Given the description of an element on the screen output the (x, y) to click on. 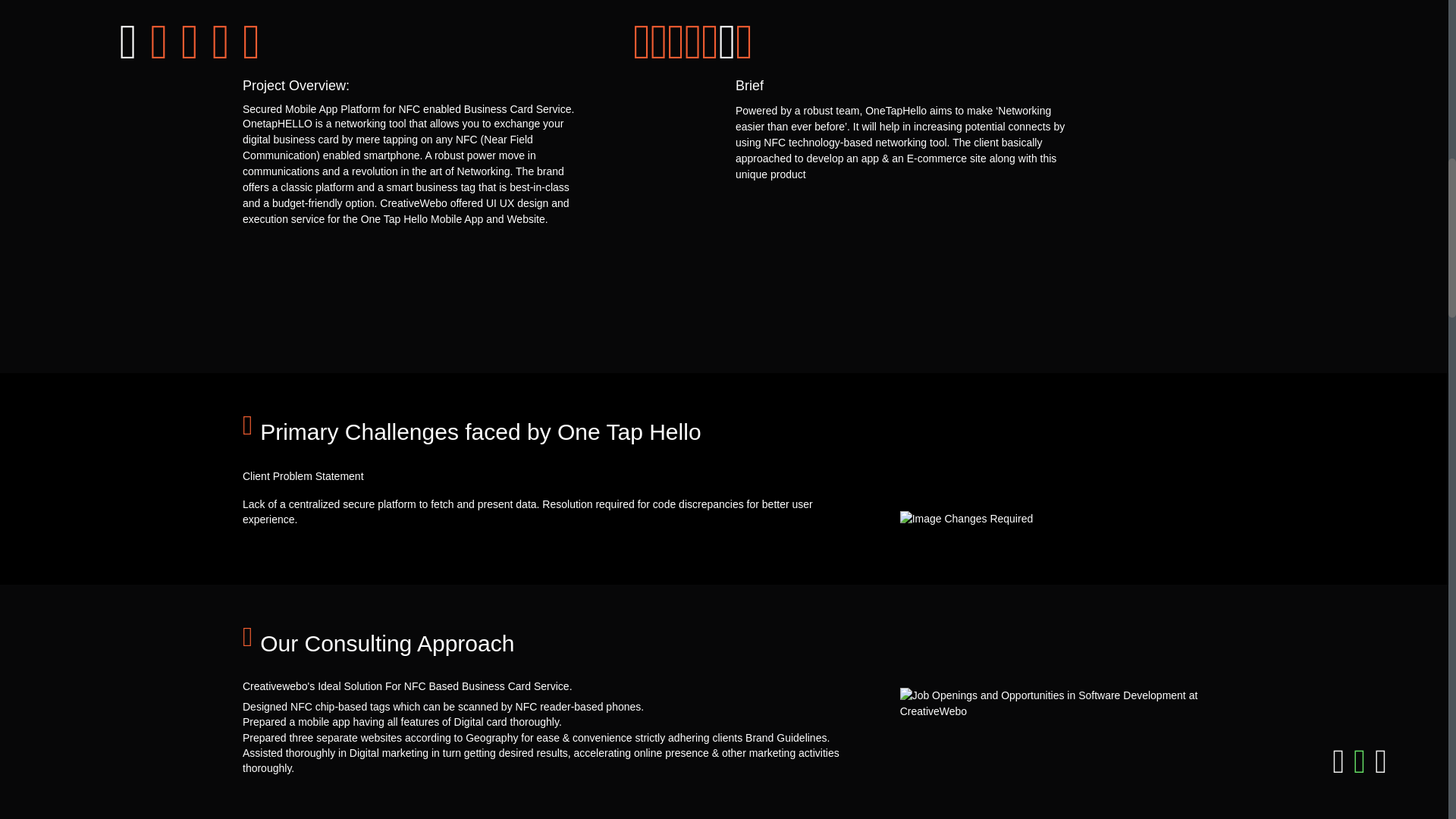
Image changes required  (1052, 519)
